Given the description of an element on the screen output the (x, y) to click on. 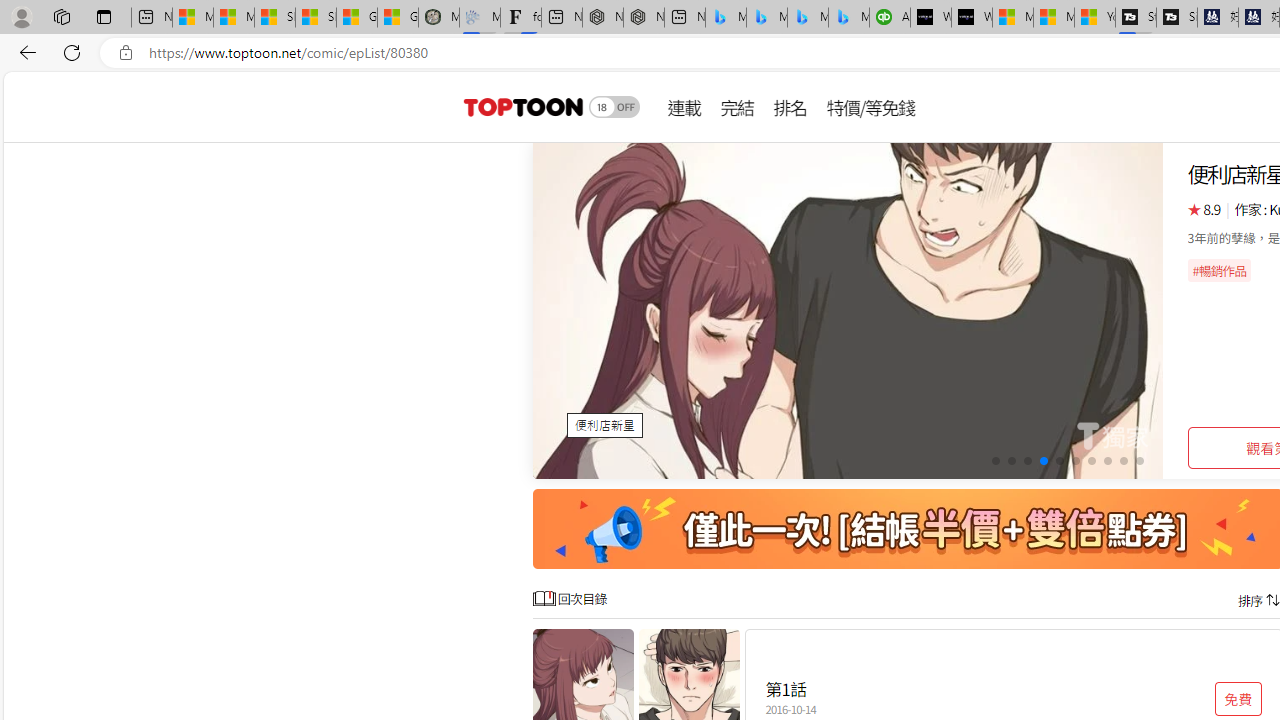
Class: swiper-slide swiper-slide-duplicate (847, 310)
Gilma and Hector both pose tropical trouble for Hawaii (397, 17)
Class:  switch_18mode actionAdultBtn (614, 106)
Accounting Software for Accountants, CPAs and Bookkeepers (890, 17)
